Given the description of an element on the screen output the (x, y) to click on. 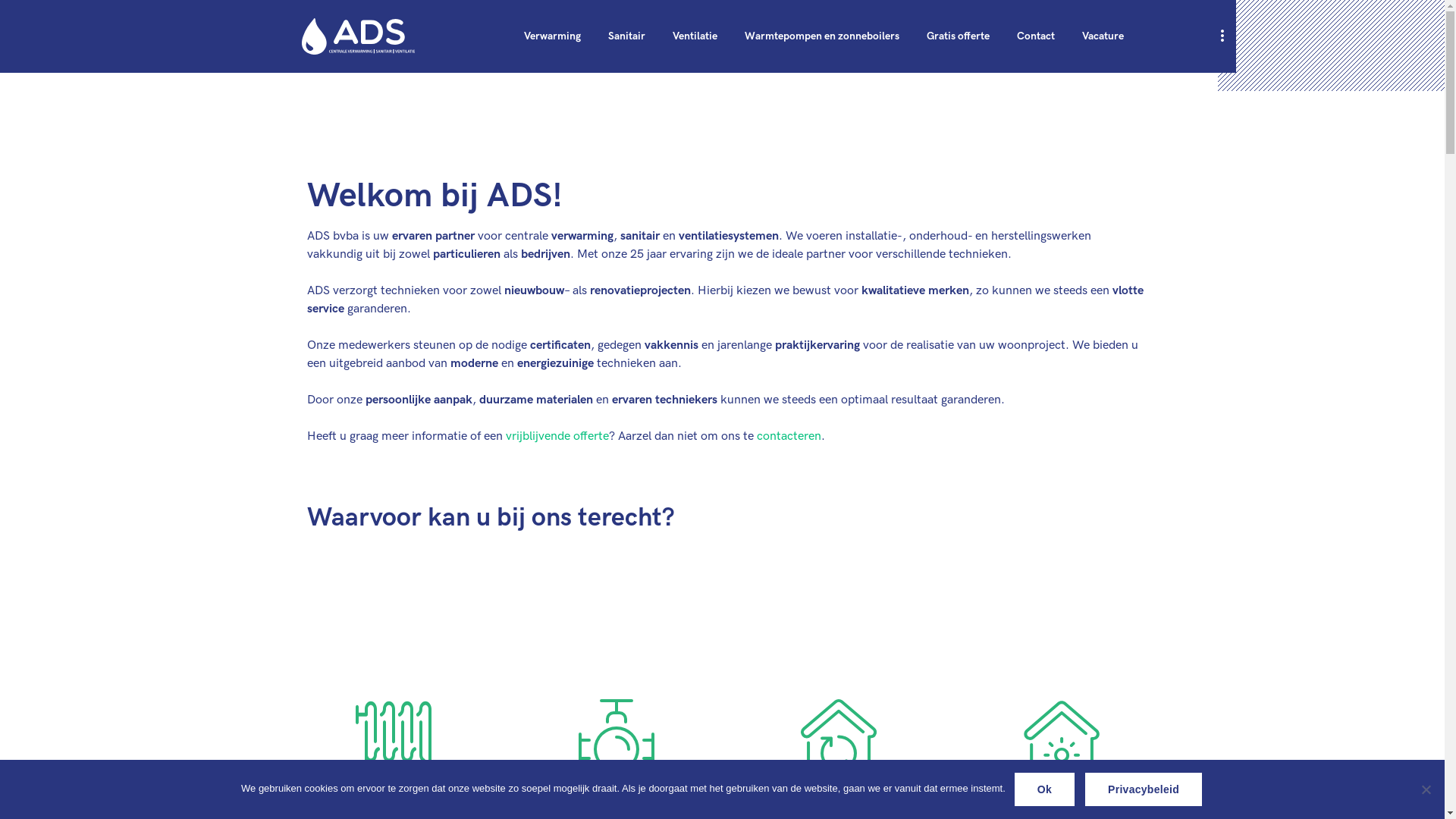
contacteren Element type: text (788, 436)
Vacature Element type: text (1102, 36)
Nee Element type: hover (1425, 789)
Ventilatie Element type: text (694, 36)
Privacybeleid Element type: text (1143, 789)
Contact Element type: text (1035, 36)
vrijblijvende offerte Element type: text (556, 436)
Verwarming Element type: text (552, 36)
Warmtepompen en zonneboilers Element type: text (821, 36)
Sanitair Element type: text (626, 36)
Ok Element type: text (1044, 789)
Gratis offerte Element type: text (957, 36)
